Given the description of an element on the screen output the (x, y) to click on. 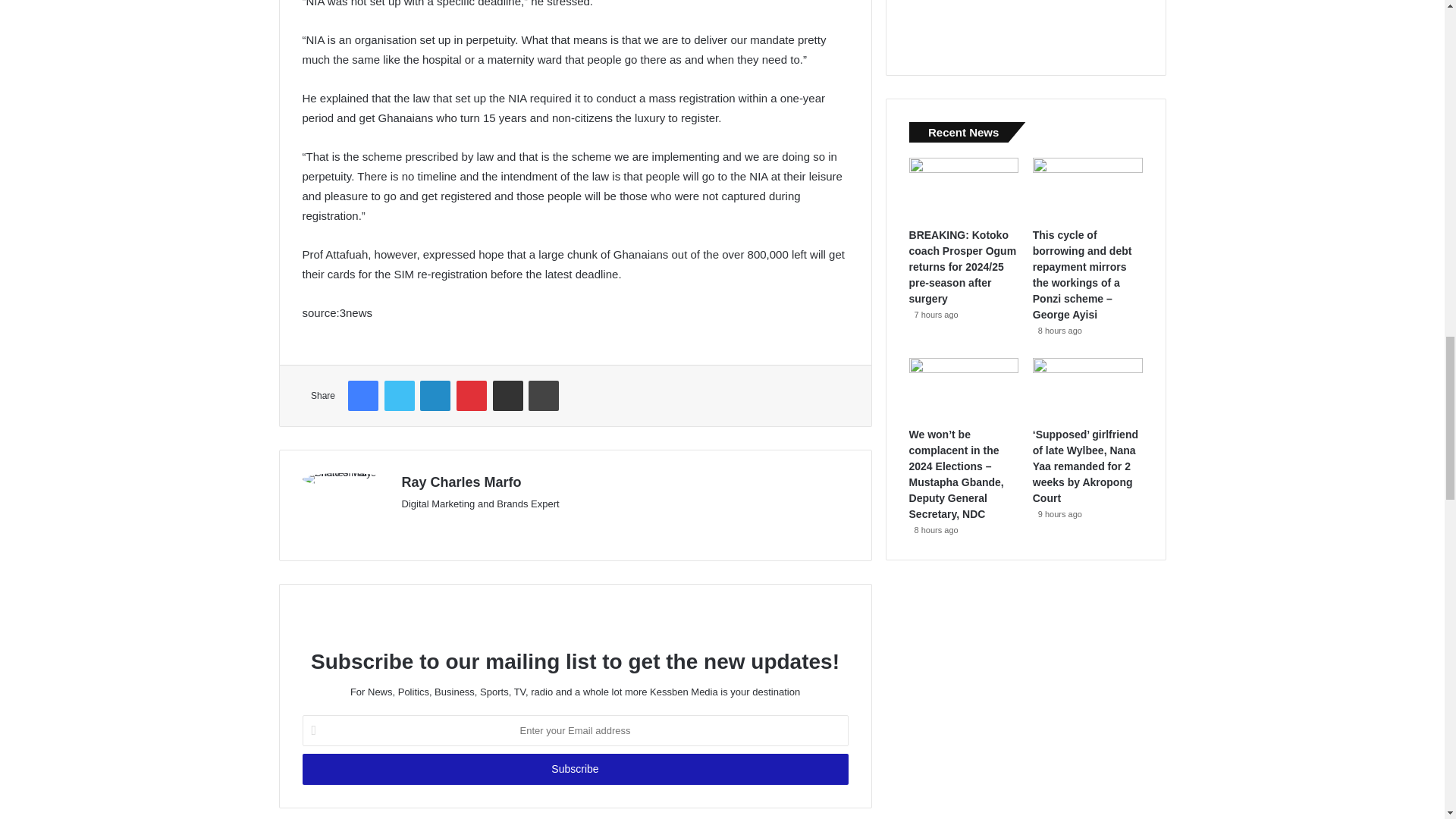
Subscribe (574, 768)
